Given the description of an element on the screen output the (x, y) to click on. 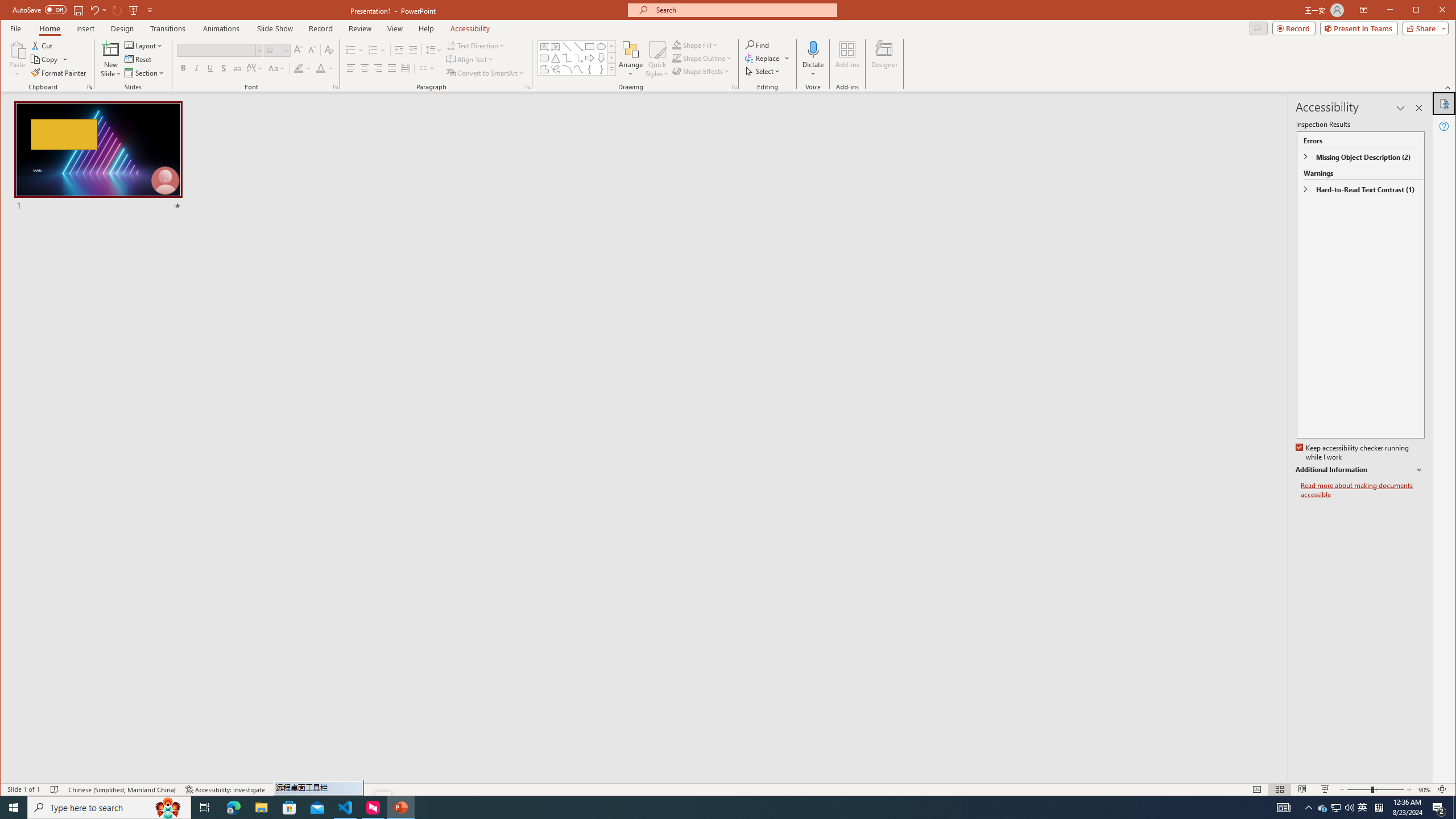
Read more about making documents accessible (1362, 489)
AutomationID: ShapesInsertGallery (577, 57)
Task View (204, 807)
Layout (143, 45)
Character Spacing (254, 68)
Columns (426, 68)
Clear Formatting (328, 49)
Font... (335, 86)
Shapes (611, 69)
Task Pane Options (1400, 107)
File Explorer (261, 807)
Minimize (1419, 11)
Increase Indent (412, 49)
Action Center, 2 new notifications (1439, 807)
